Given the description of an element on the screen output the (x, y) to click on. 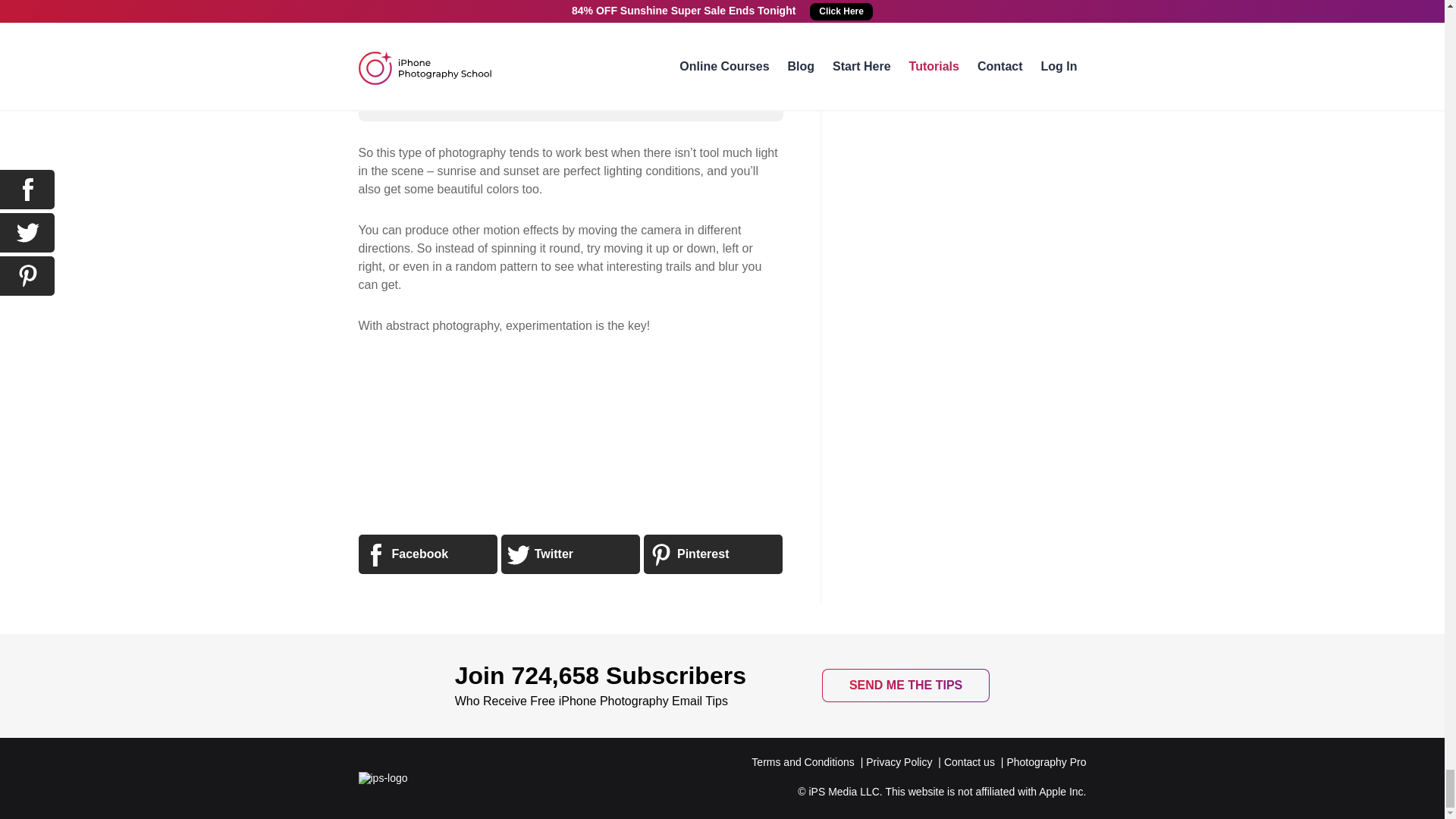
Facebook (427, 554)
SEND ME THE TIPS (906, 685)
Pinterest (713, 554)
Twitter (570, 554)
